Given the description of an element on the screen output the (x, y) to click on. 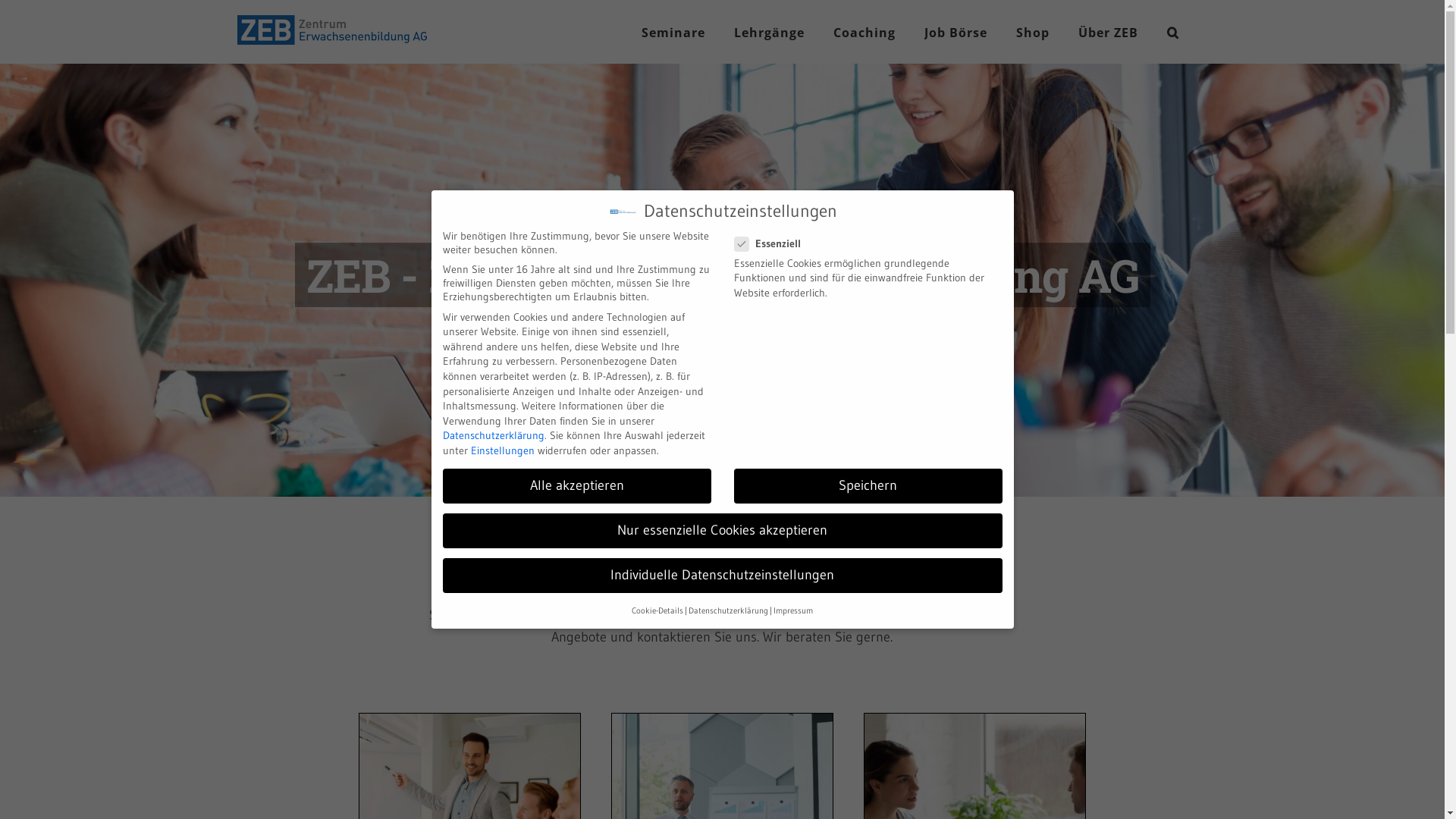
Alle akzeptieren Element type: text (576, 485)
Individuelle Datenschutzeinstellungen Element type: text (722, 575)
Cookie-Details Element type: text (657, 610)
Suche Element type: hover (1172, 31)
Coaching Element type: text (863, 31)
Einstellungen Element type: text (501, 450)
Impressum Element type: text (792, 610)
Speichern Element type: text (868, 485)
Shop Element type: text (1032, 31)
Nur essenzielle Cookies akzeptieren Element type: text (722, 530)
Seminare Element type: text (673, 31)
